Given the description of an element on the screen output the (x, y) to click on. 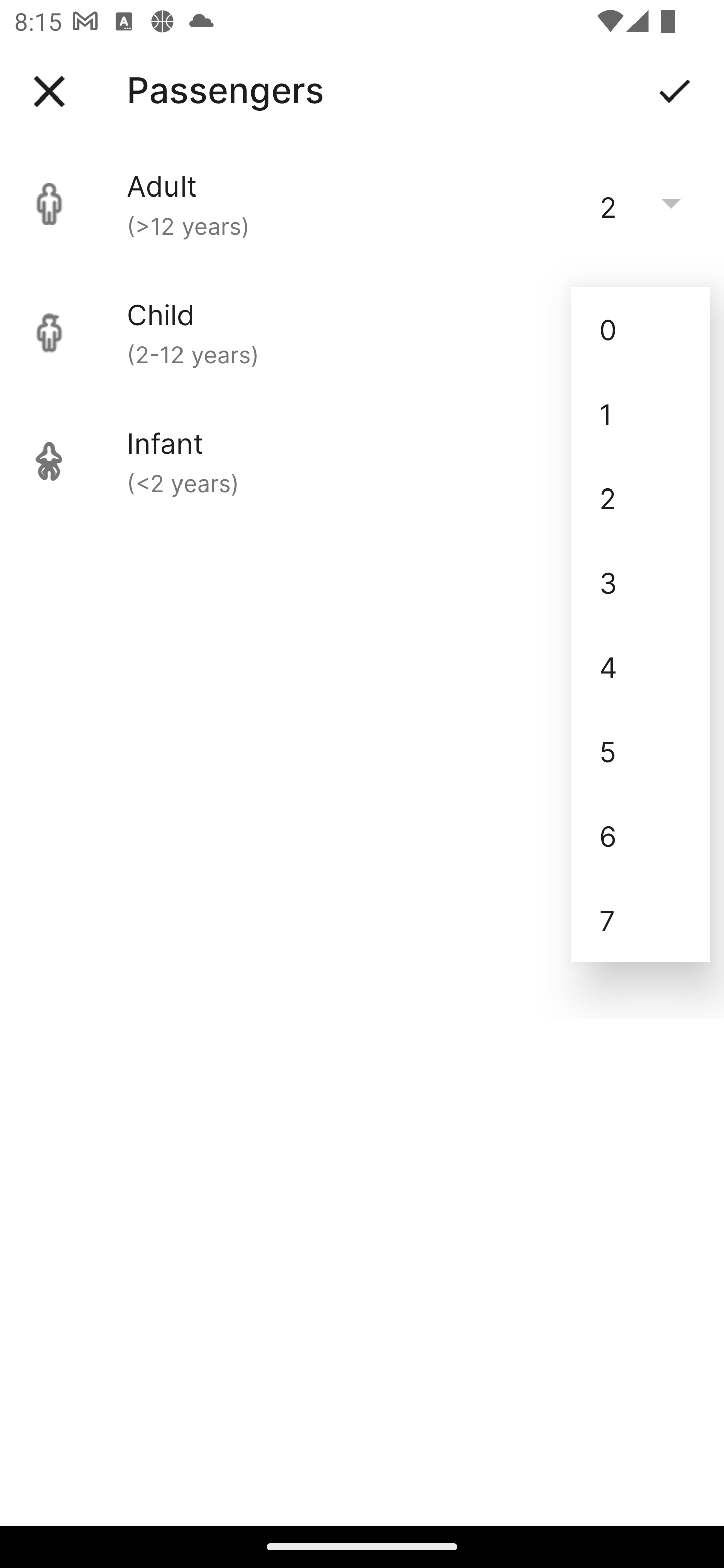
0 (640, 328)
1 (640, 413)
2 (640, 498)
3 (640, 582)
4 (640, 666)
5 (640, 750)
6 (640, 835)
7 (640, 920)
